Given the description of an element on the screen output the (x, y) to click on. 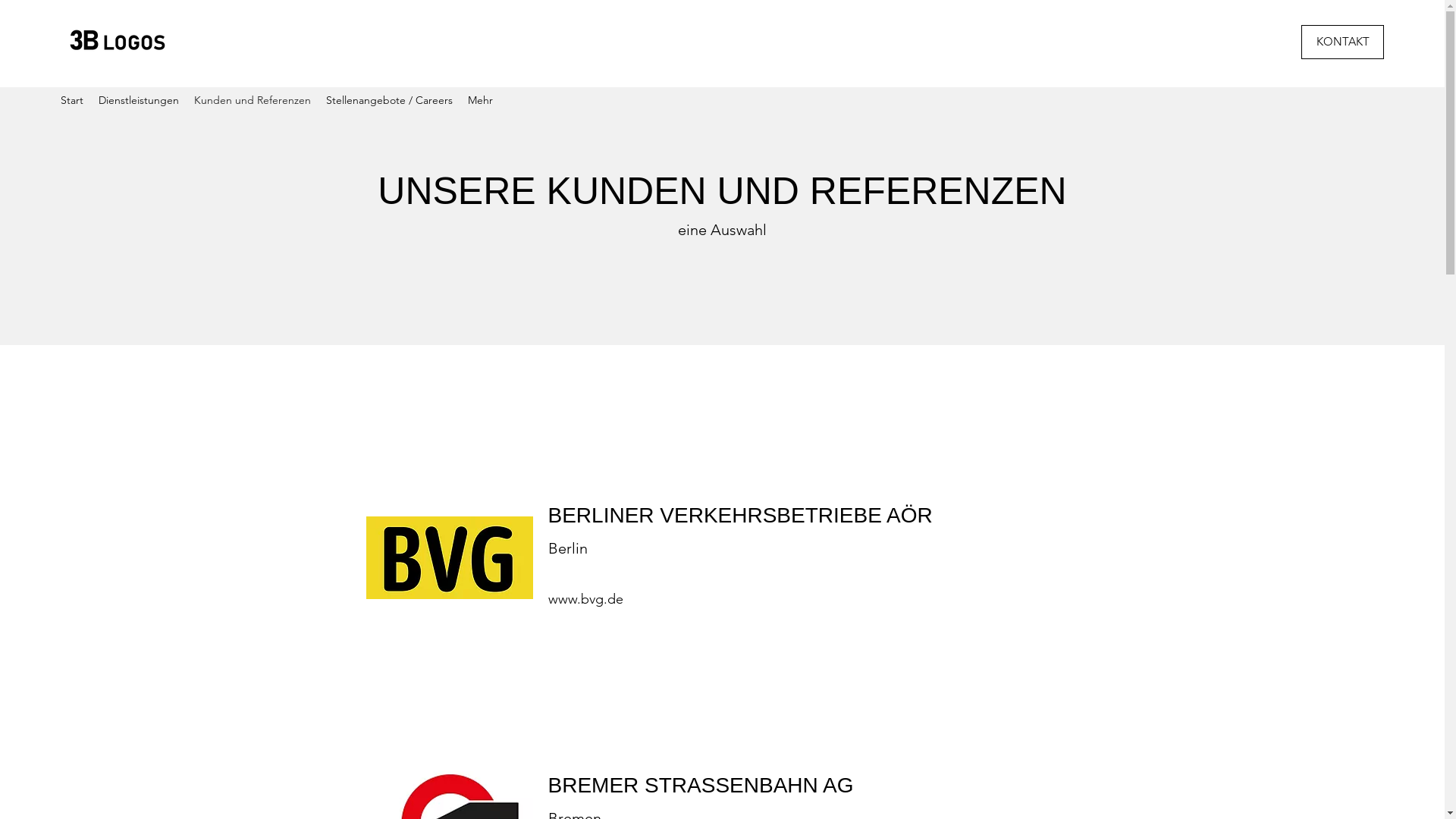
www.bvg.de Element type: text (584, 599)
Dienstleistungen Element type: text (138, 102)
Kunden und Referenzen Element type: text (252, 102)
Start Element type: text (72, 102)
KONTAKT Element type: text (1342, 42)
Stellenangebote / Careers Element type: text (389, 102)
